Given the description of an element on the screen output the (x, y) to click on. 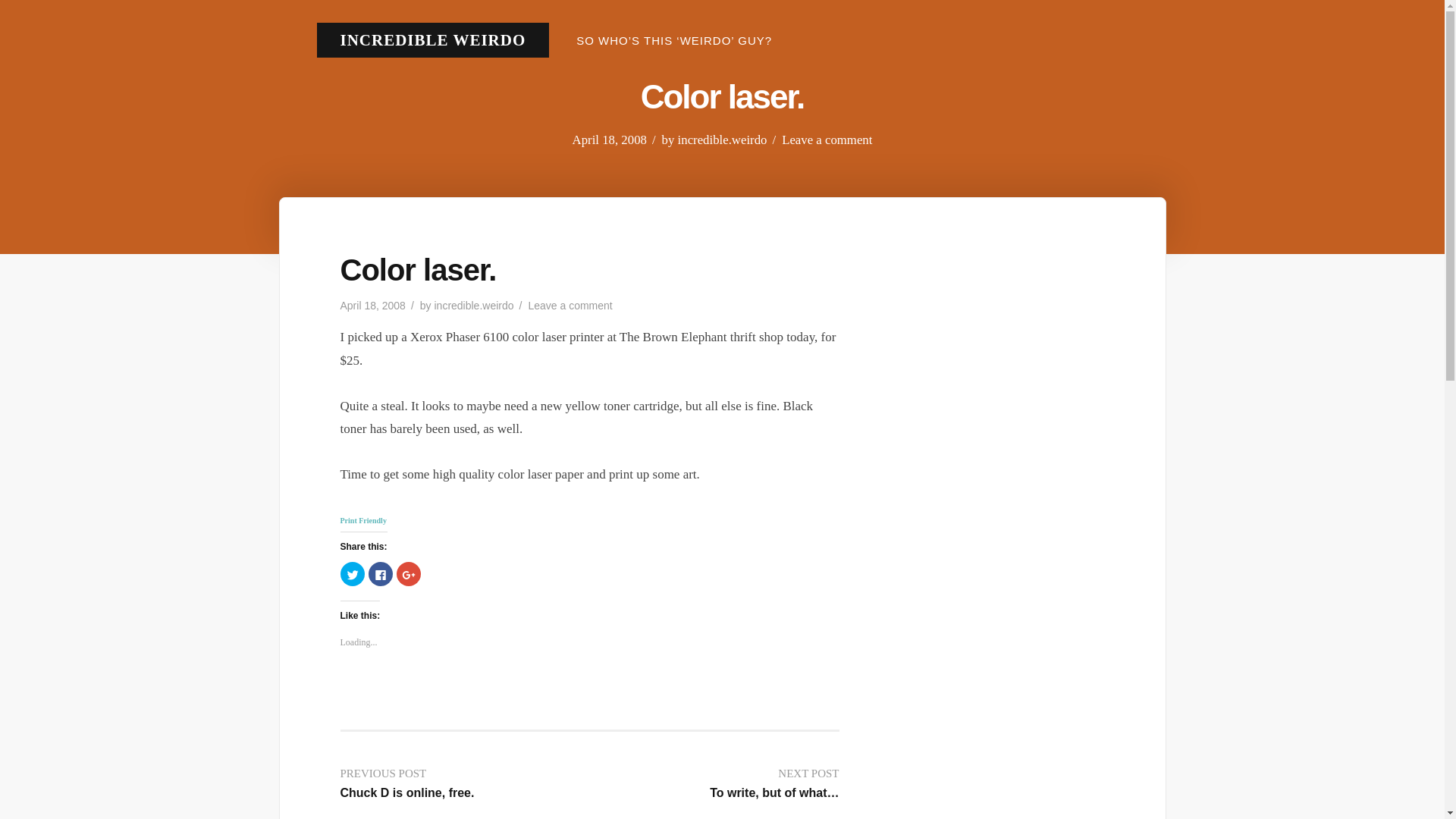
Click to share on Facebook (380, 573)
Click to share on Twitter (351, 573)
April 18, 2008 (371, 305)
April 18, 2008 (609, 139)
incredible.weirdo (569, 305)
INCREDIBLE WEIRDO (722, 139)
Print Friendly (826, 139)
incredible.weirdo (432, 40)
